Given the description of an element on the screen output the (x, y) to click on. 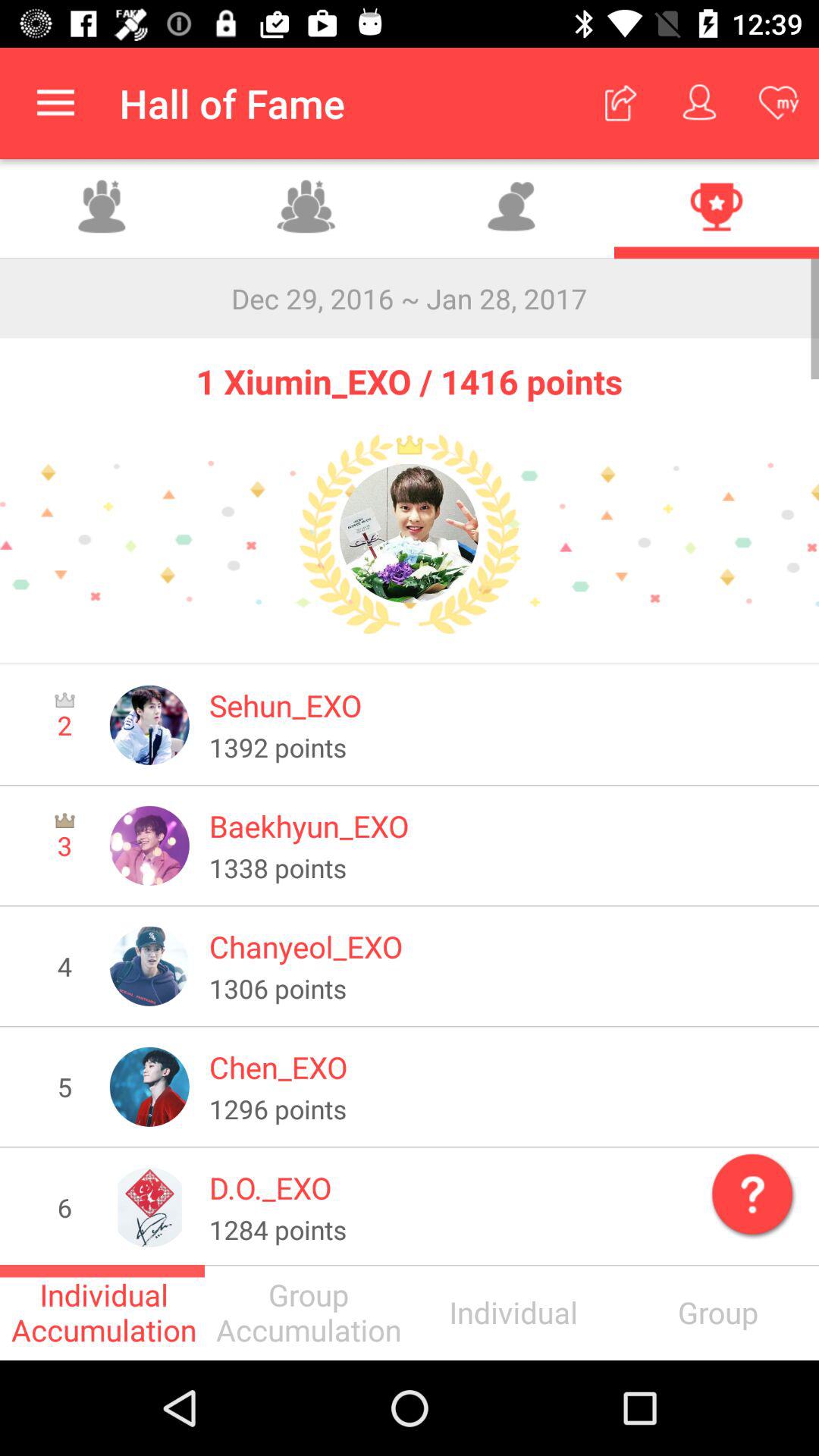
jump until individual accumulation icon (102, 1312)
